Given the description of an element on the screen output the (x, y) to click on. 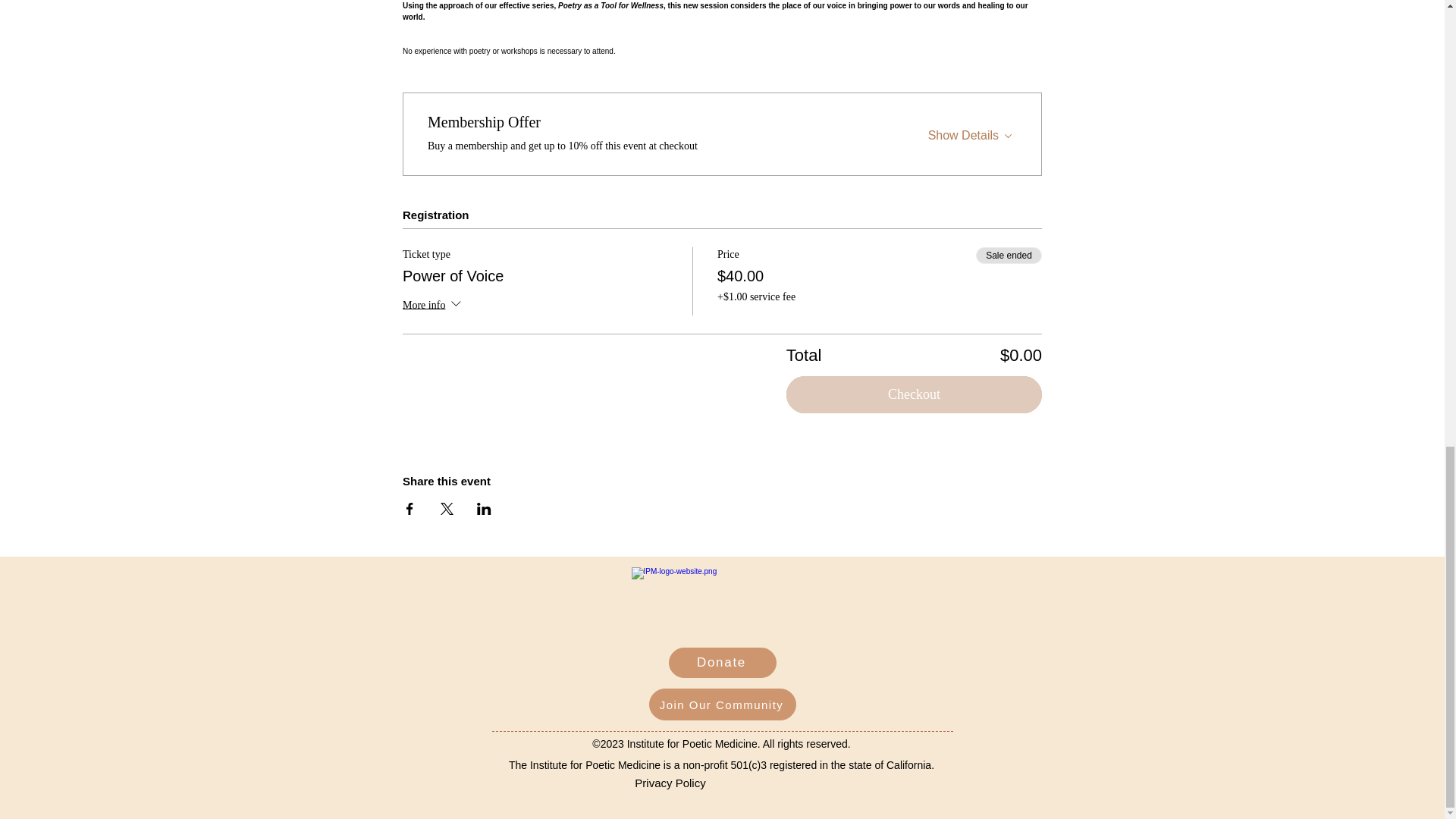
Donate (722, 662)
Show Details (972, 131)
More info (433, 305)
Join Our Community (722, 704)
Checkout (914, 394)
Privacy Policy (669, 782)
